Given the description of an element on the screen output the (x, y) to click on. 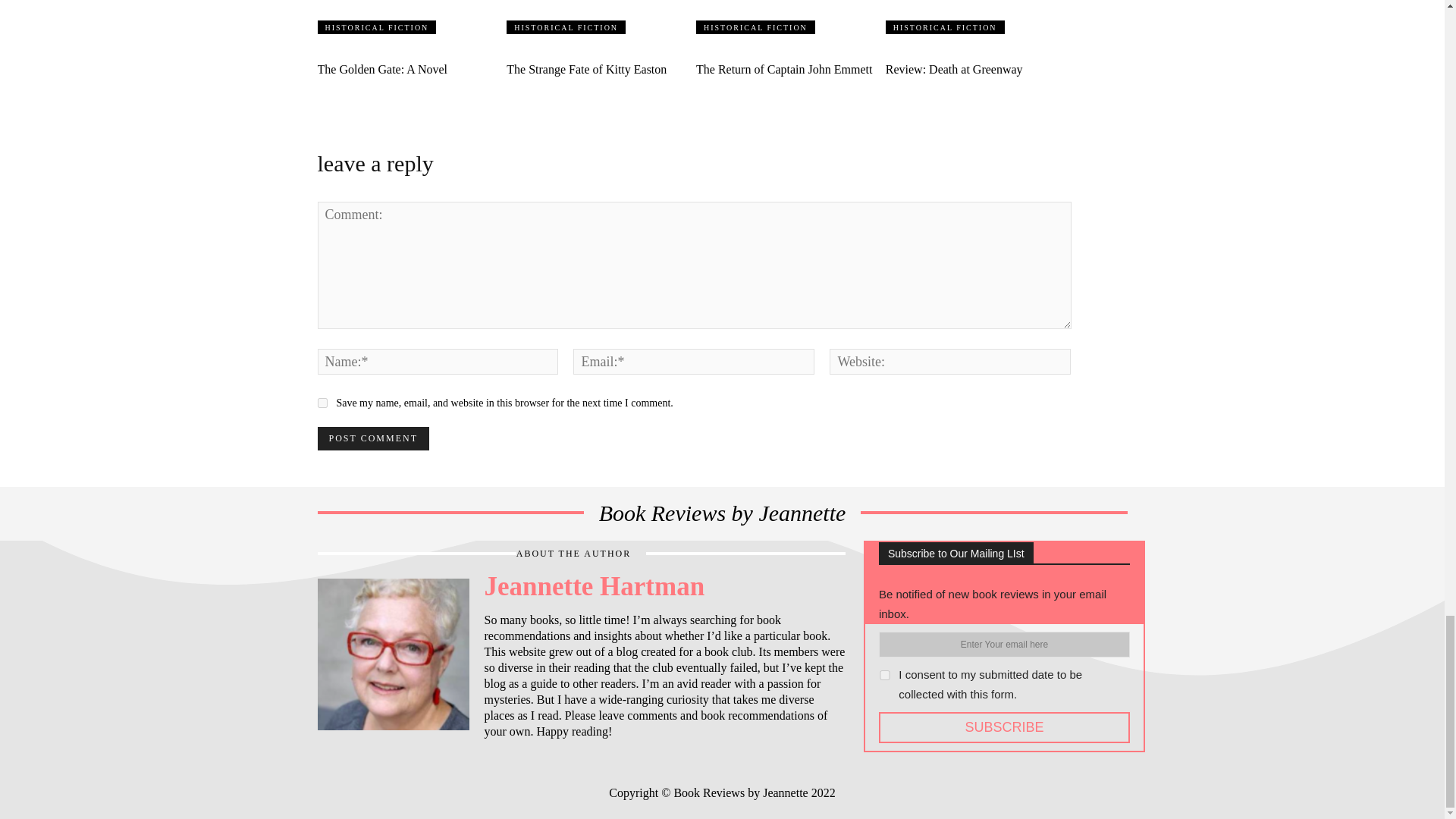
Post Comment (372, 438)
HISTORICAL FICTION (376, 27)
The Strange Fate of Kitty Easton (586, 69)
Subscribe (1004, 726)
HISTORICAL FICTION (566, 27)
The Return of Captain John Emmett (783, 69)
The Golden Gate: A Novel (409, 16)
Review: Death at Greenway (978, 16)
yes (321, 402)
The Return of Captain John Emmett (783, 69)
